Given the description of an element on the screen output the (x, y) to click on. 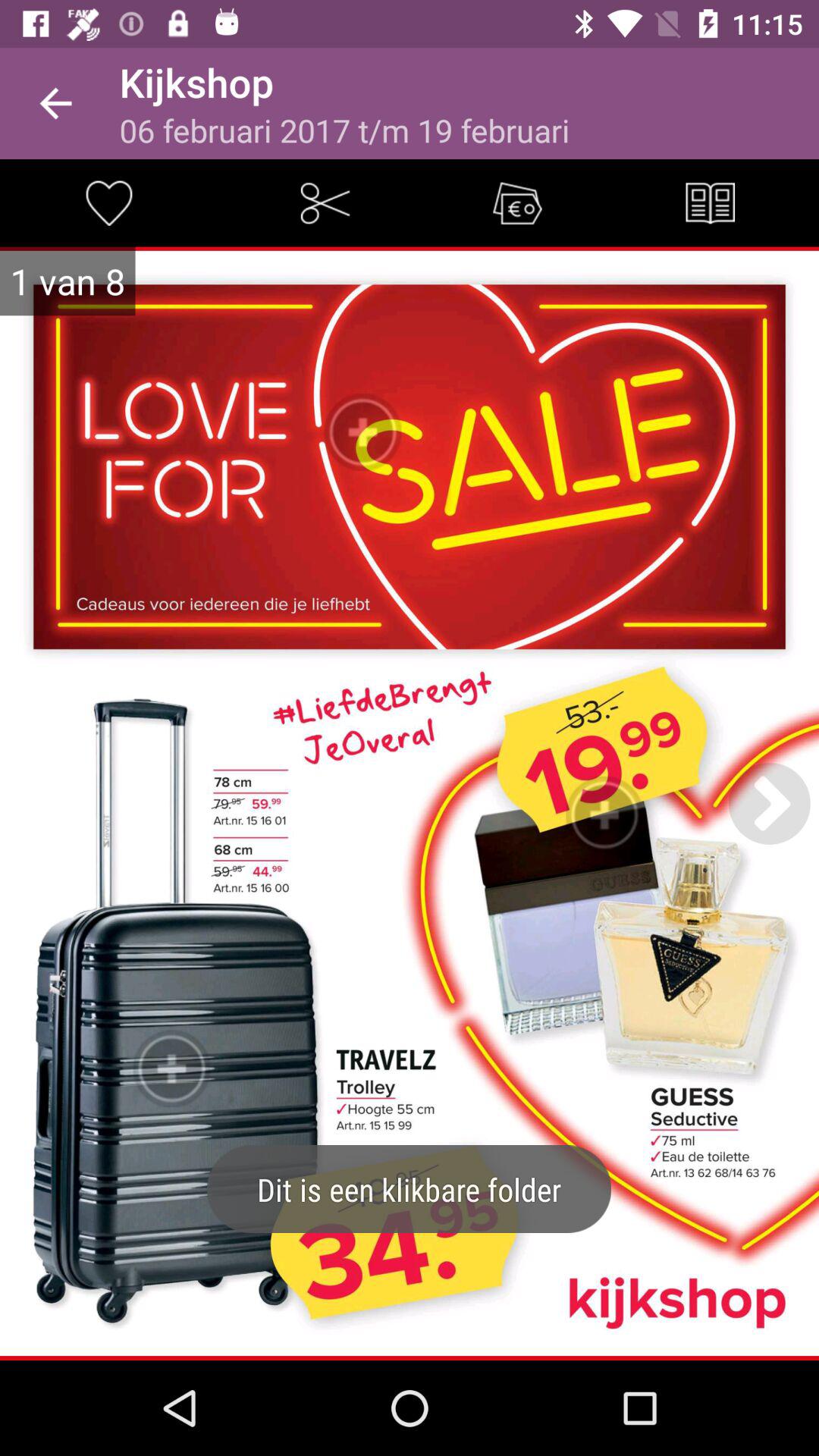
show next (769, 803)
